Given the description of an element on the screen output the (x, y) to click on. 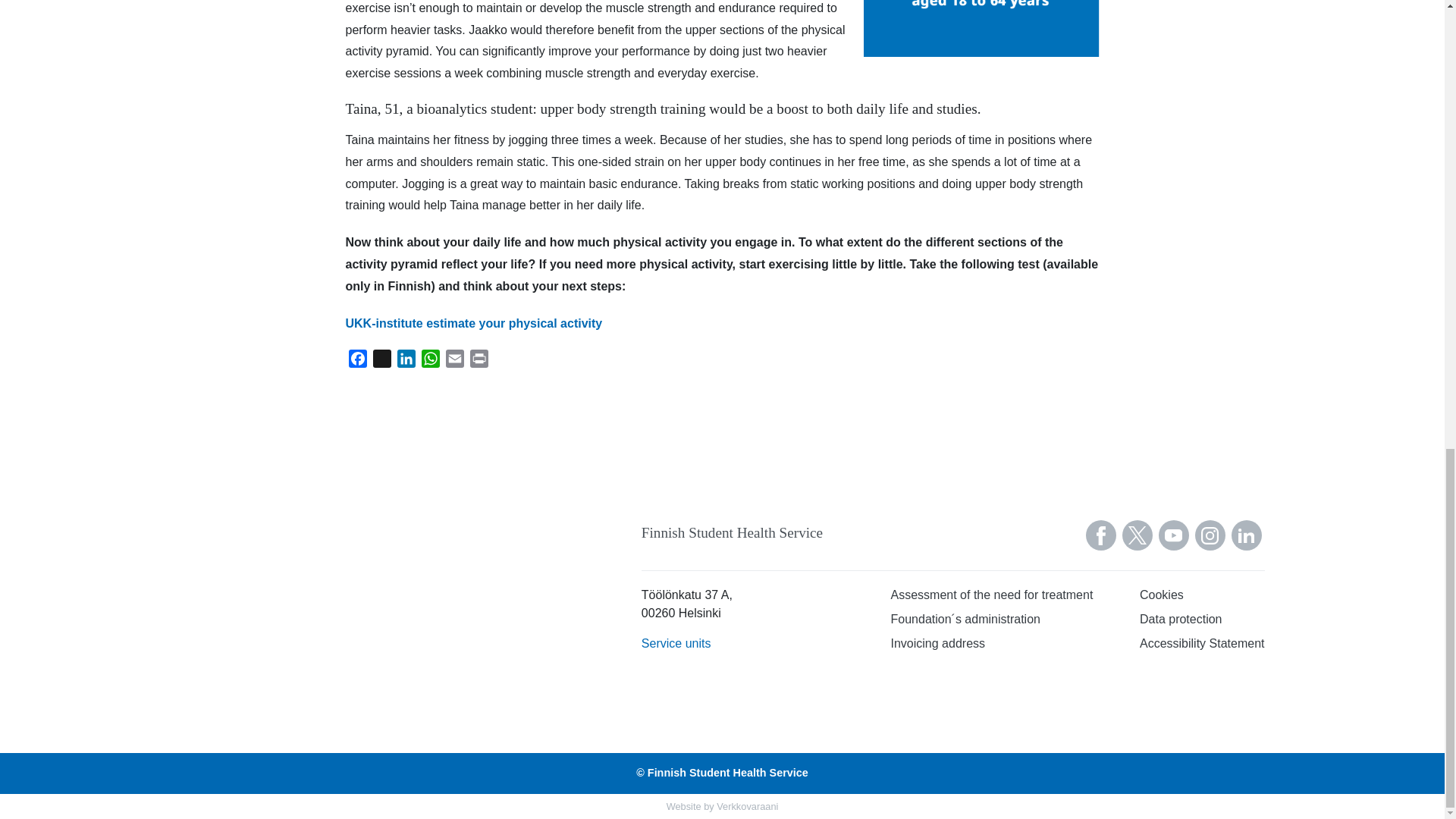
X (381, 361)
Facebook (357, 361)
Email (454, 361)
LinkedIn (406, 361)
Print (479, 361)
WhatsApp (430, 361)
Invoicing address (992, 646)
Assessment of the need for treatment (992, 598)
